Given the description of an element on the screen output the (x, y) to click on. 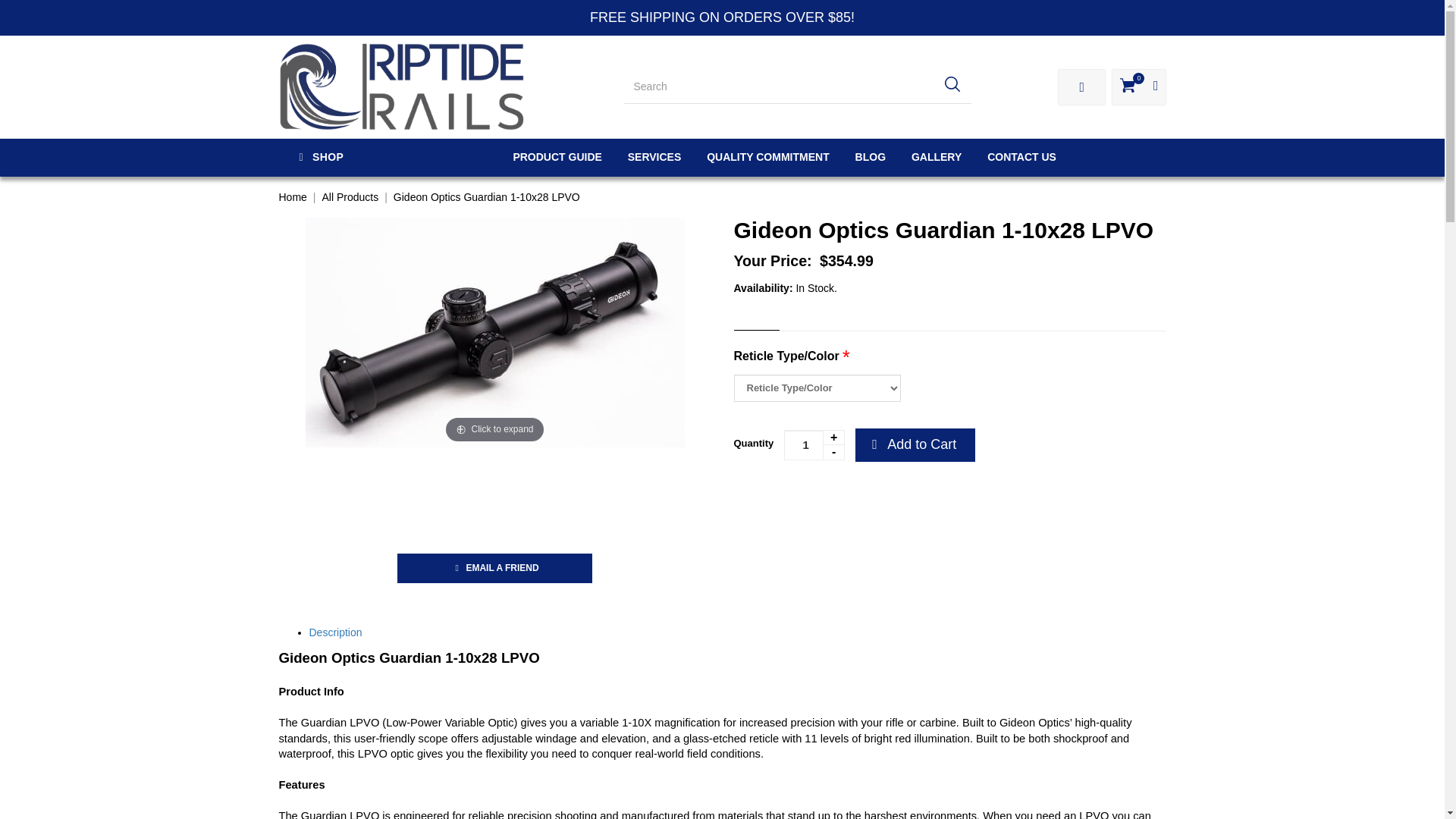
SHOP (373, 157)
1 (814, 444)
0 (1138, 86)
